Given the description of an element on the screen output the (x, y) to click on. 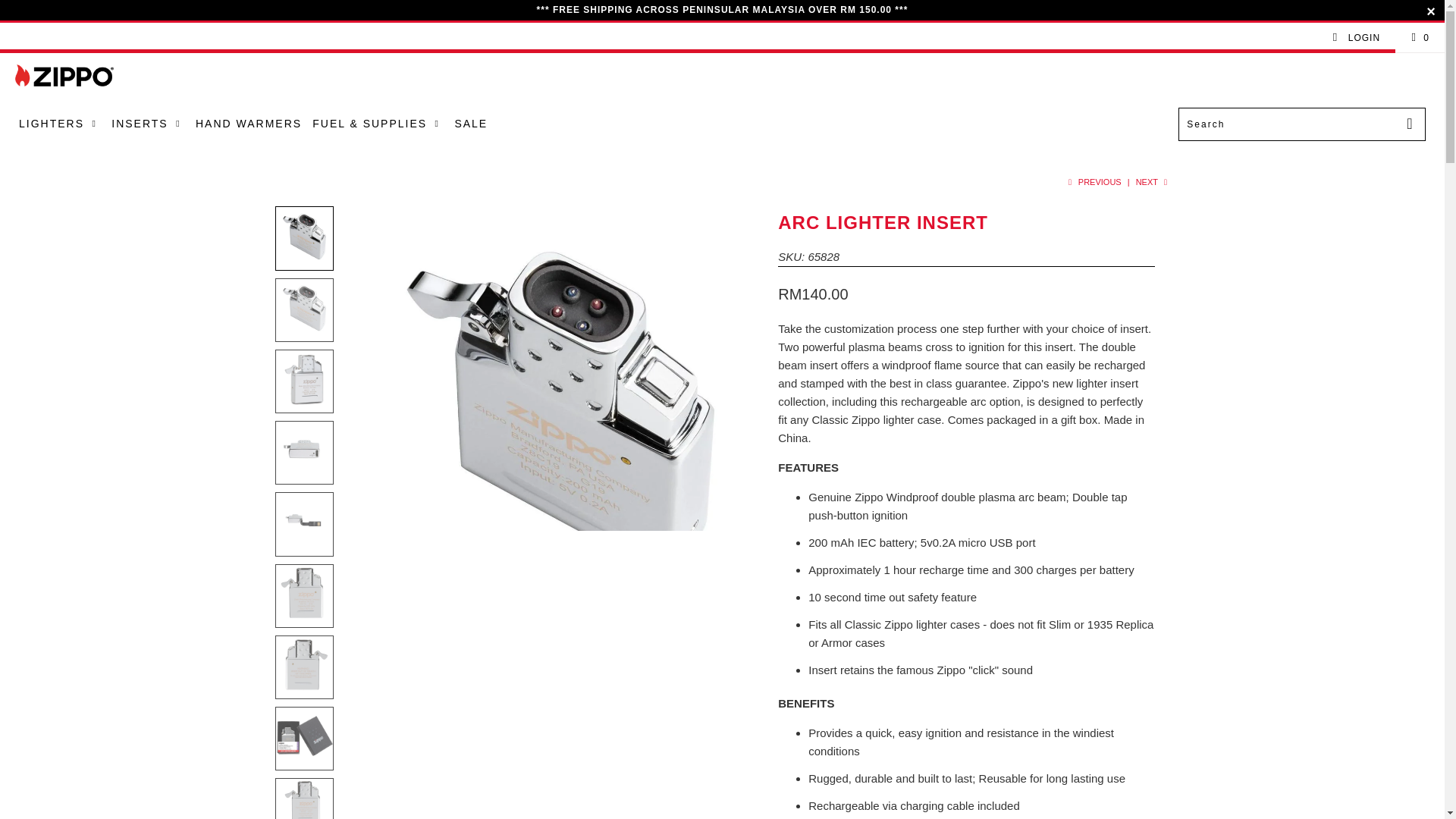
Previous (1092, 181)
My Account  (1355, 37)
Next (1152, 181)
